Given the description of an element on the screen output the (x, y) to click on. 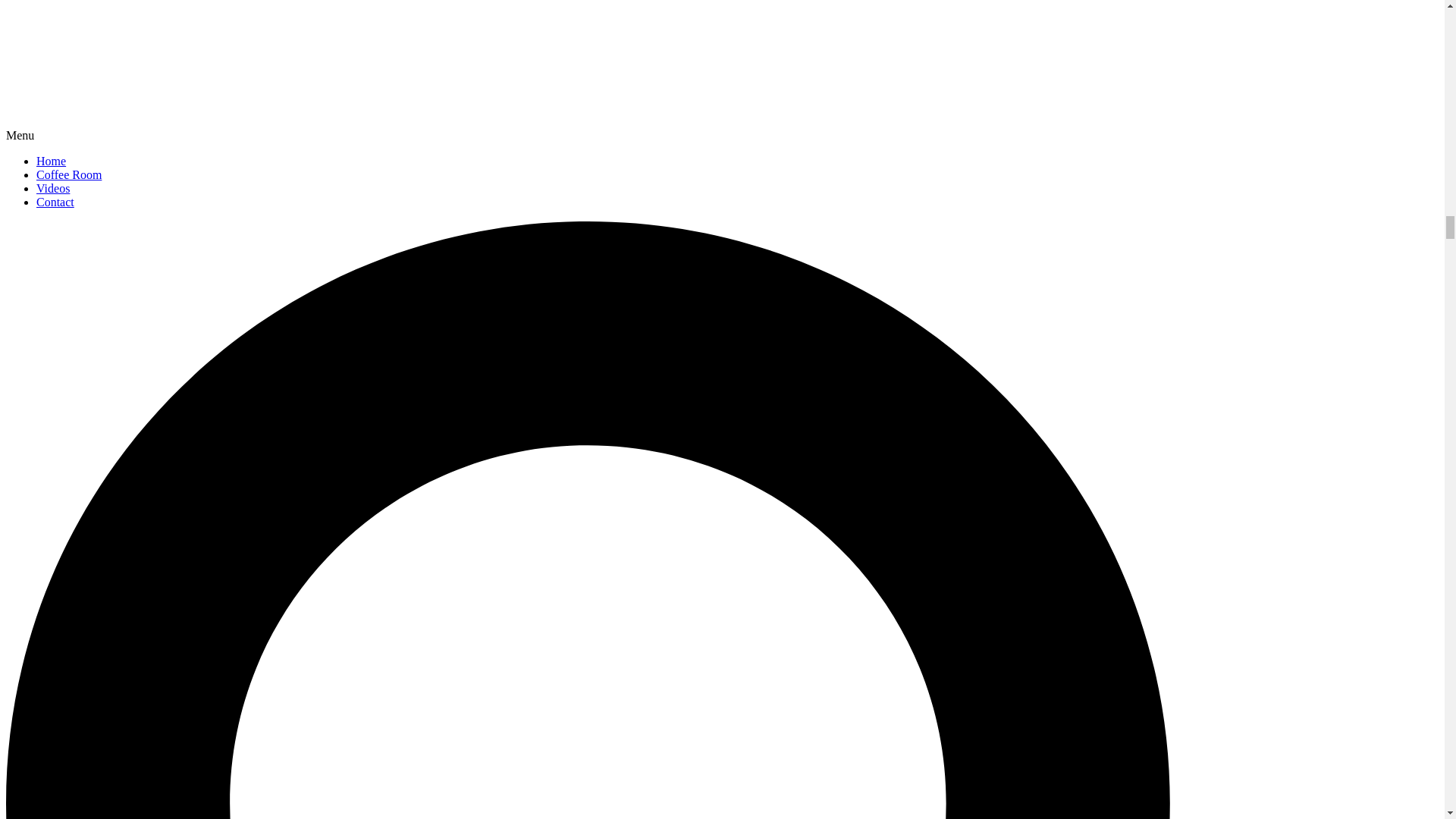
Videos (52, 187)
Coffee Room (68, 174)
Contact (55, 201)
Home (50, 160)
